Given the description of an element on the screen output the (x, y) to click on. 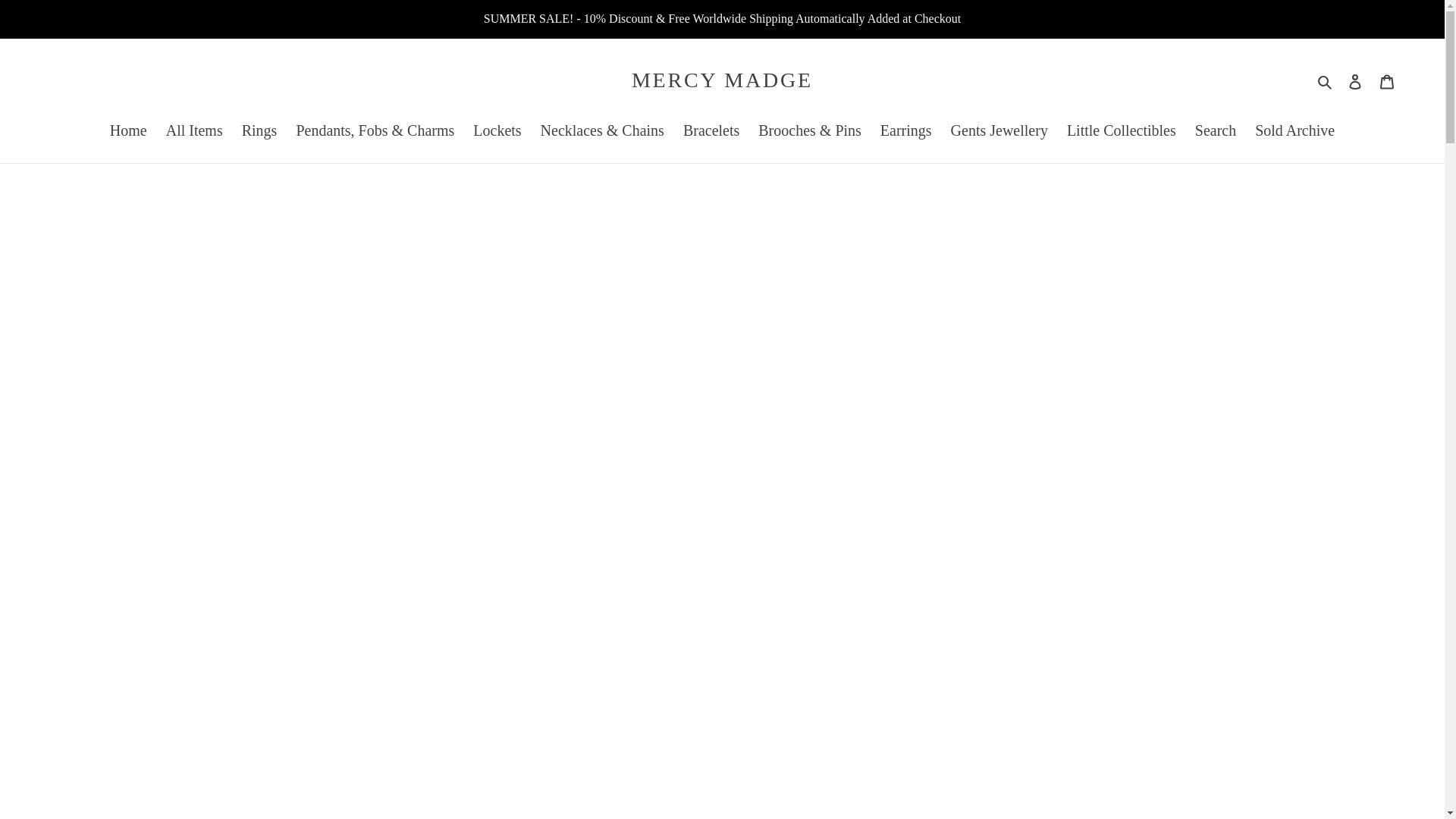
Lockets (496, 131)
Search (1215, 131)
Sold Archive (1294, 131)
Home (127, 131)
MERCY MADGE (721, 80)
Little Collectibles (1121, 131)
All Items (194, 131)
Bracelets (710, 131)
Rings (259, 131)
Earrings (905, 131)
